Given the description of an element on the screen output the (x, y) to click on. 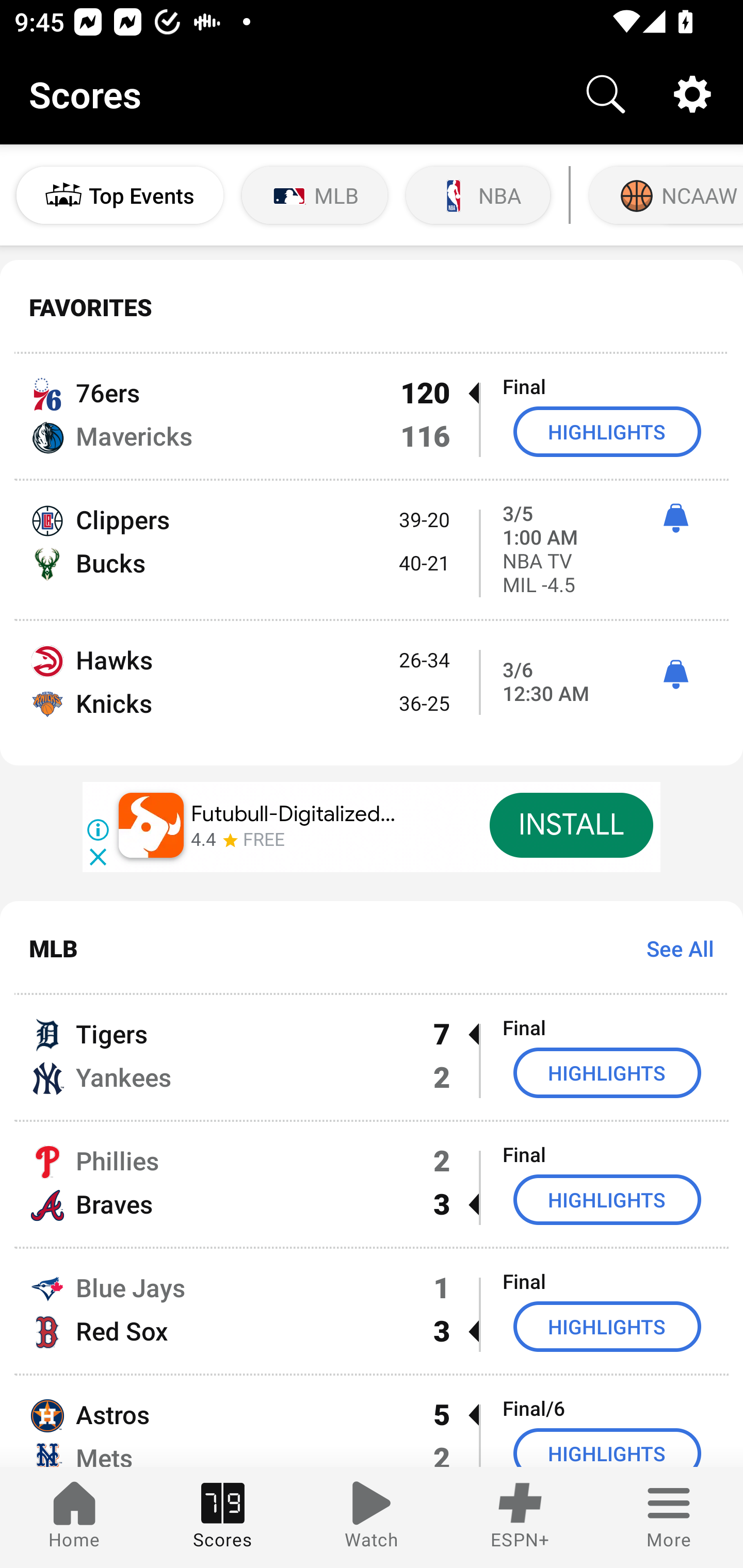
Search (605, 93)
Settings (692, 93)
 Top Events (119, 194)
MLB (314, 194)
NBA (477, 194)
NCAAW (664, 194)
FAVORITES (371, 307)
76ers 120  Final Mavericks 116 HIGHLIGHTS (371, 416)
HIGHLIGHTS (607, 431)
ì (675, 517)
Hawks 26-34 Knicks 36-25 3/6 12:30 AM ì (371, 692)
ì (675, 674)
INSTALL (570, 825)
Futubull-Digitalized… (293, 814)
MLB See All (371, 948)
See All (673, 947)
Tigers 7  Final Yankees 2 HIGHLIGHTS (371, 1057)
HIGHLIGHTS (607, 1072)
Phillies 2 Final Braves 3  HIGHLIGHTS (371, 1183)
HIGHLIGHTS (607, 1199)
Blue Jays 1 Final Red Sox 3  HIGHLIGHTS (371, 1310)
HIGHLIGHTS (607, 1326)
Astros 5  Final/6 Mets 2 HIGHLIGHTS (371, 1421)
HIGHLIGHTS (607, 1447)
Home (74, 1517)
Watch (371, 1517)
ESPN+ (519, 1517)
More (668, 1517)
